Given the description of an element on the screen output the (x, y) to click on. 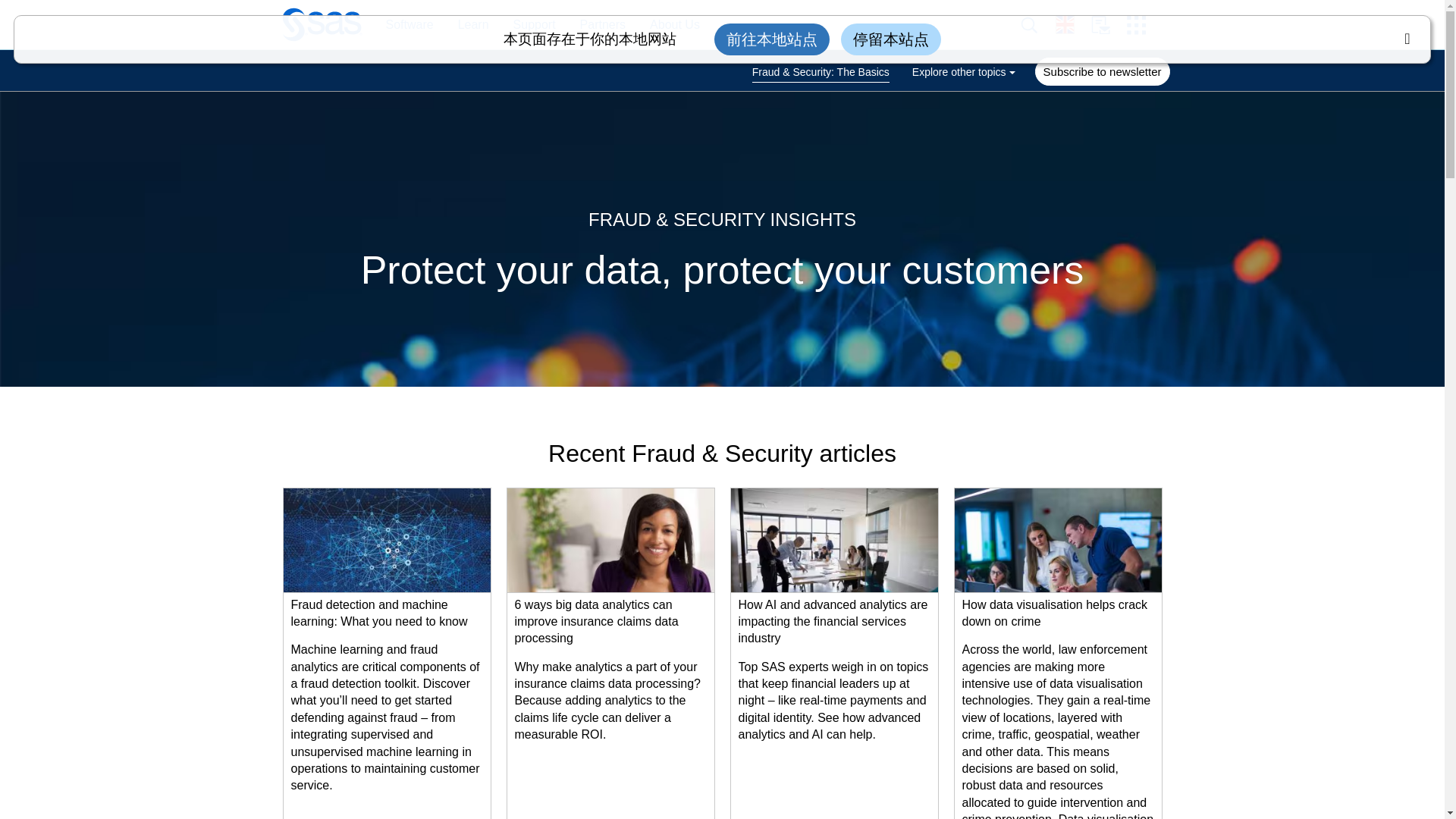
Software (401, 24)
SAS Sites (1141, 25)
Partners (602, 24)
Partners (595, 24)
Search (1037, 25)
Learn (465, 24)
Worldwide Sites (1072, 24)
Software (409, 24)
About Us (667, 24)
